Given the description of an element on the screen output the (x, y) to click on. 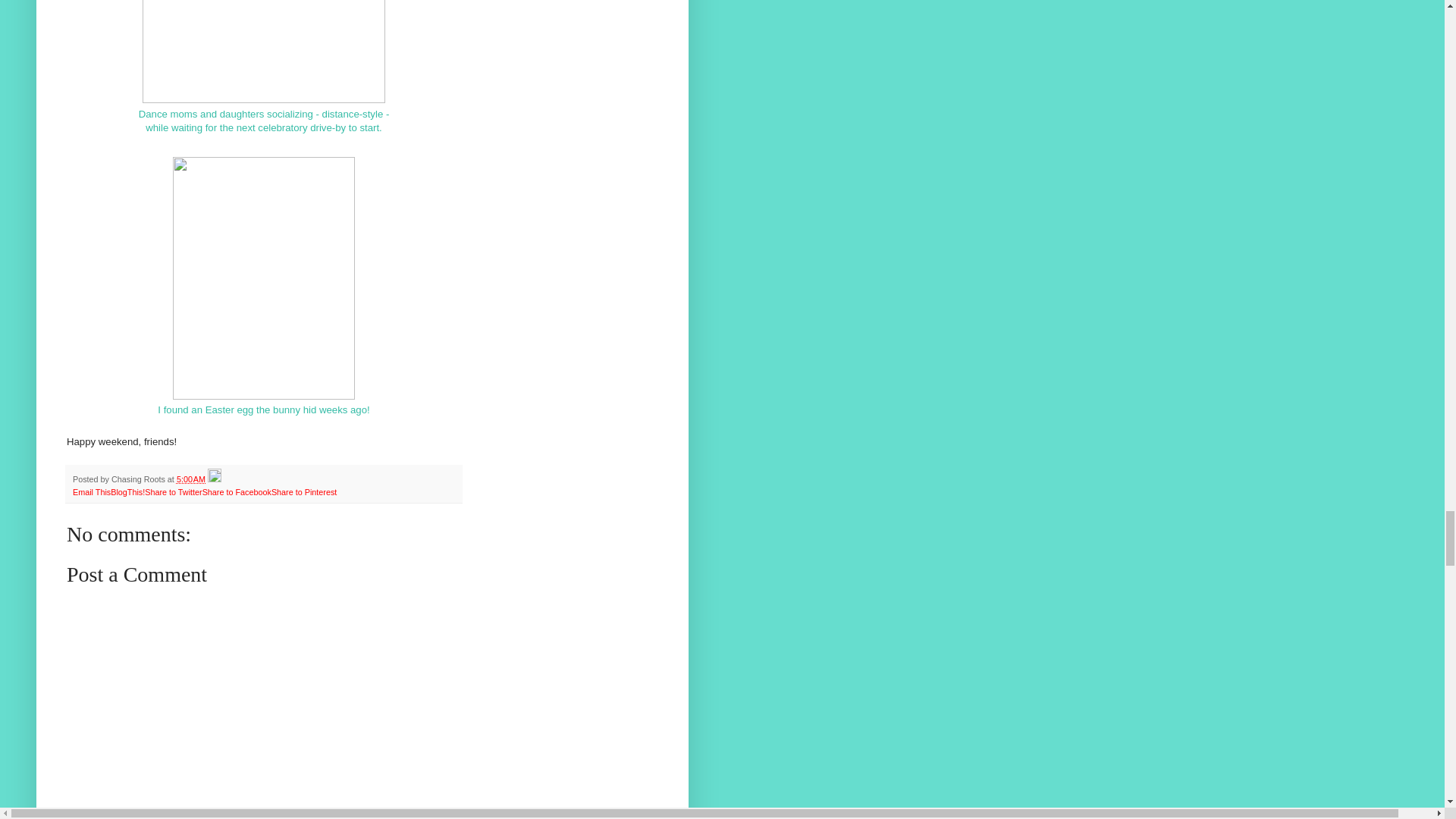
Share to Facebook (236, 491)
Email This (91, 491)
Email This (91, 491)
Share to Pinterest (303, 491)
BlogThis! (127, 491)
BlogThis! (127, 491)
Edit Post (214, 479)
Share to Twitter (173, 491)
Share to Facebook (236, 491)
permanent link (190, 479)
Share to Twitter (173, 491)
Share to Pinterest (303, 491)
